Given the description of an element on the screen output the (x, y) to click on. 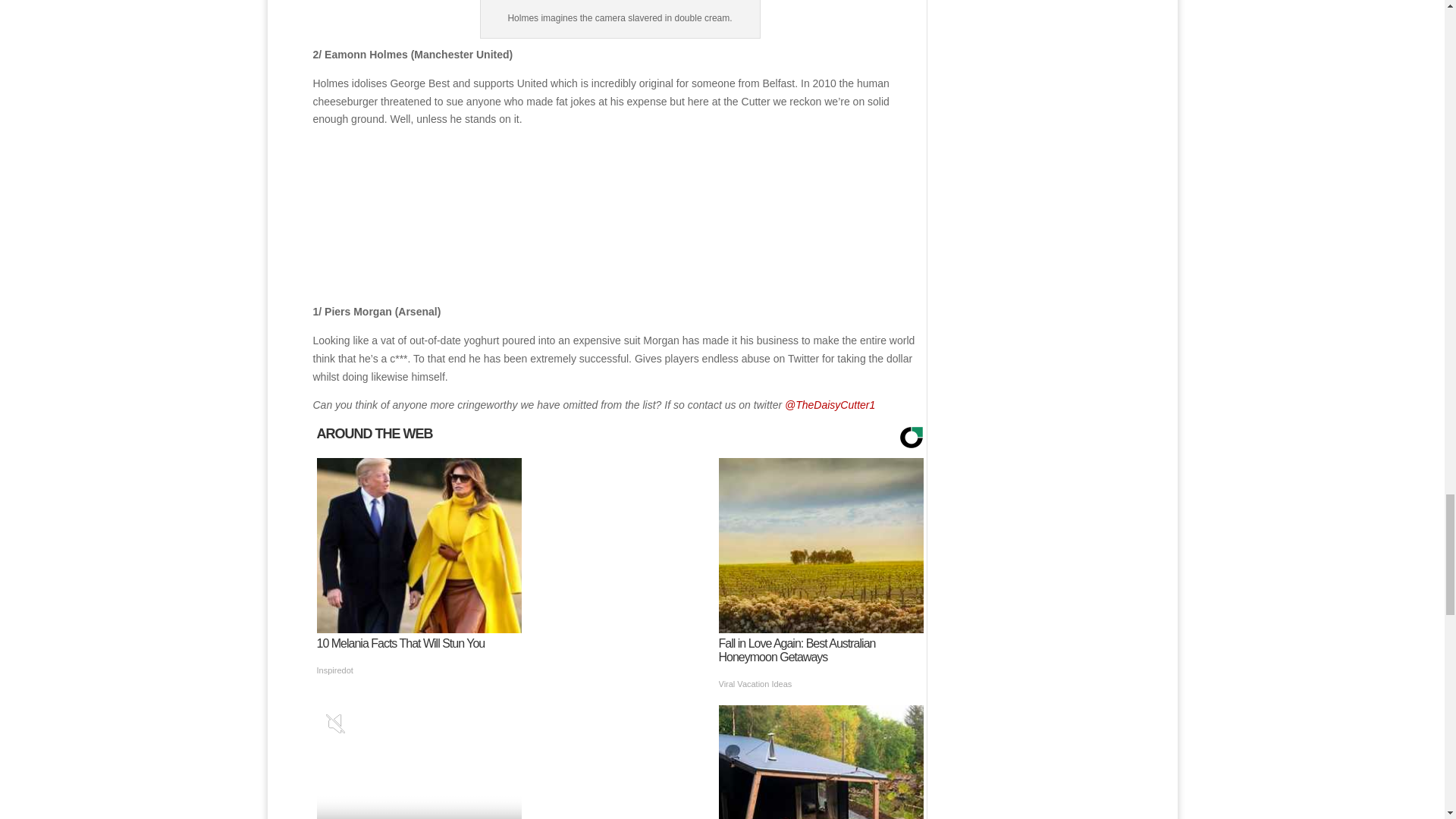
daisy twitter link (829, 404)
